Given the description of an element on the screen output the (x, y) to click on. 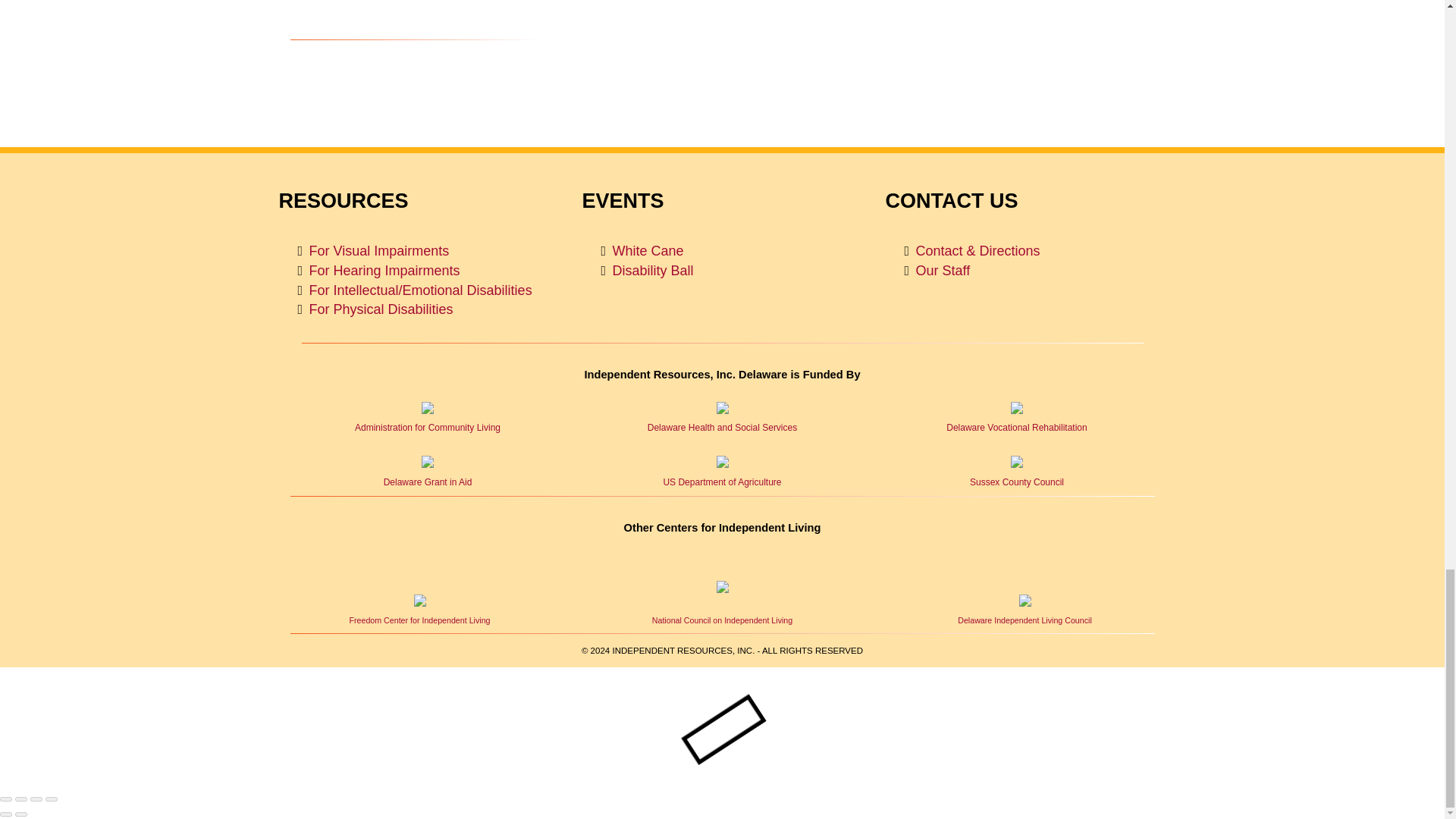
Toggle fullscreen (36, 798)
Share (20, 798)
